Given the description of an element on the screen output the (x, y) to click on. 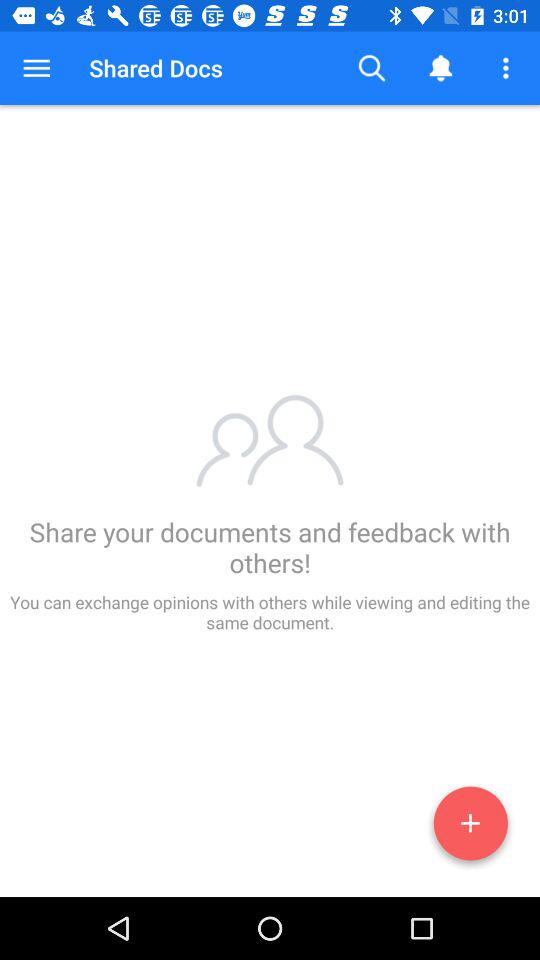
turn off the item below the you can exchange (470, 827)
